Given the description of an element on the screen output the (x, y) to click on. 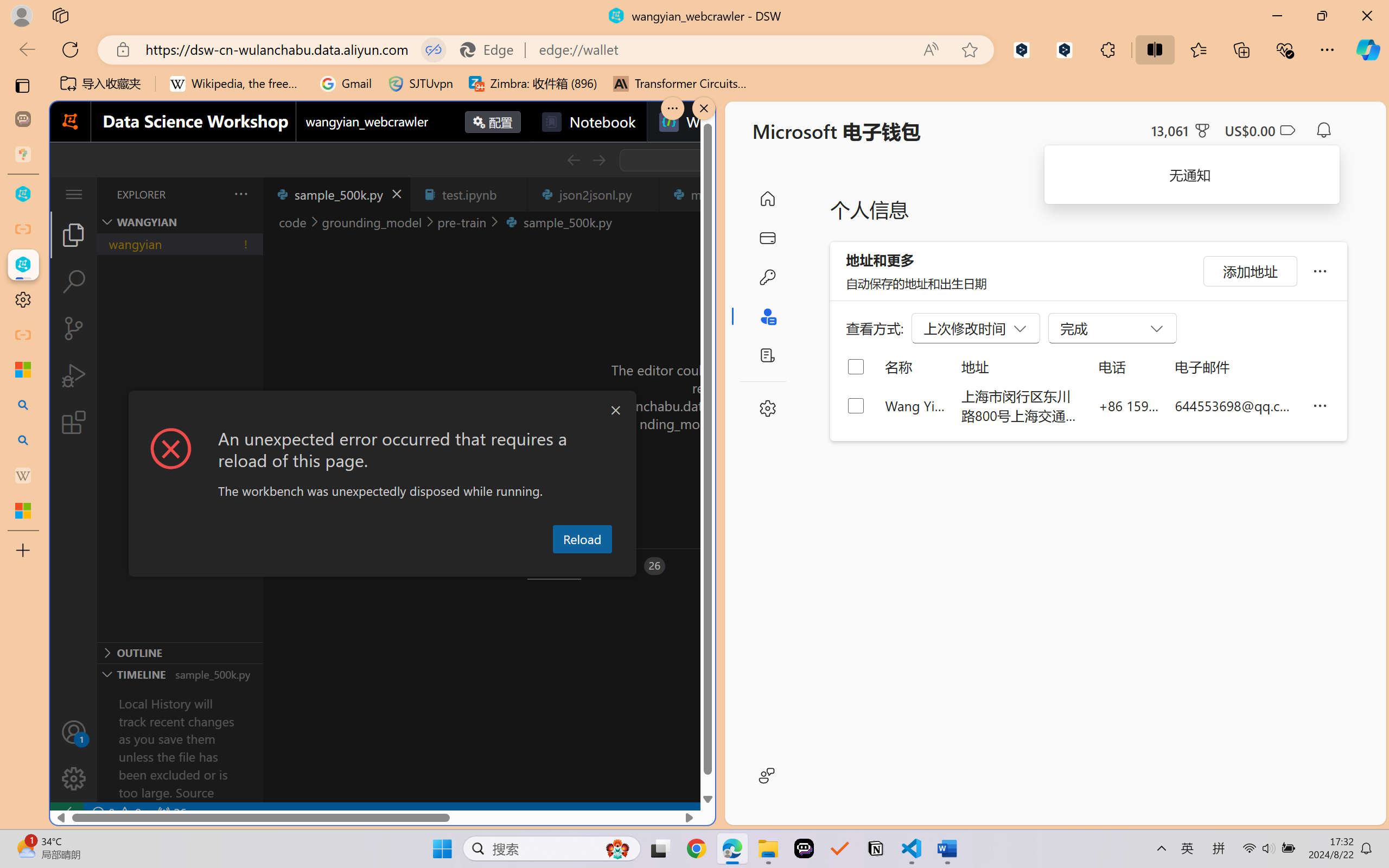
Terminal actions (1002, 565)
Wikipedia, the free encyclopedia (236, 83)
Application Menu (73, 194)
Extensions (Ctrl+Shift+X) (73, 422)
